Given the description of an element on the screen output the (x, y) to click on. 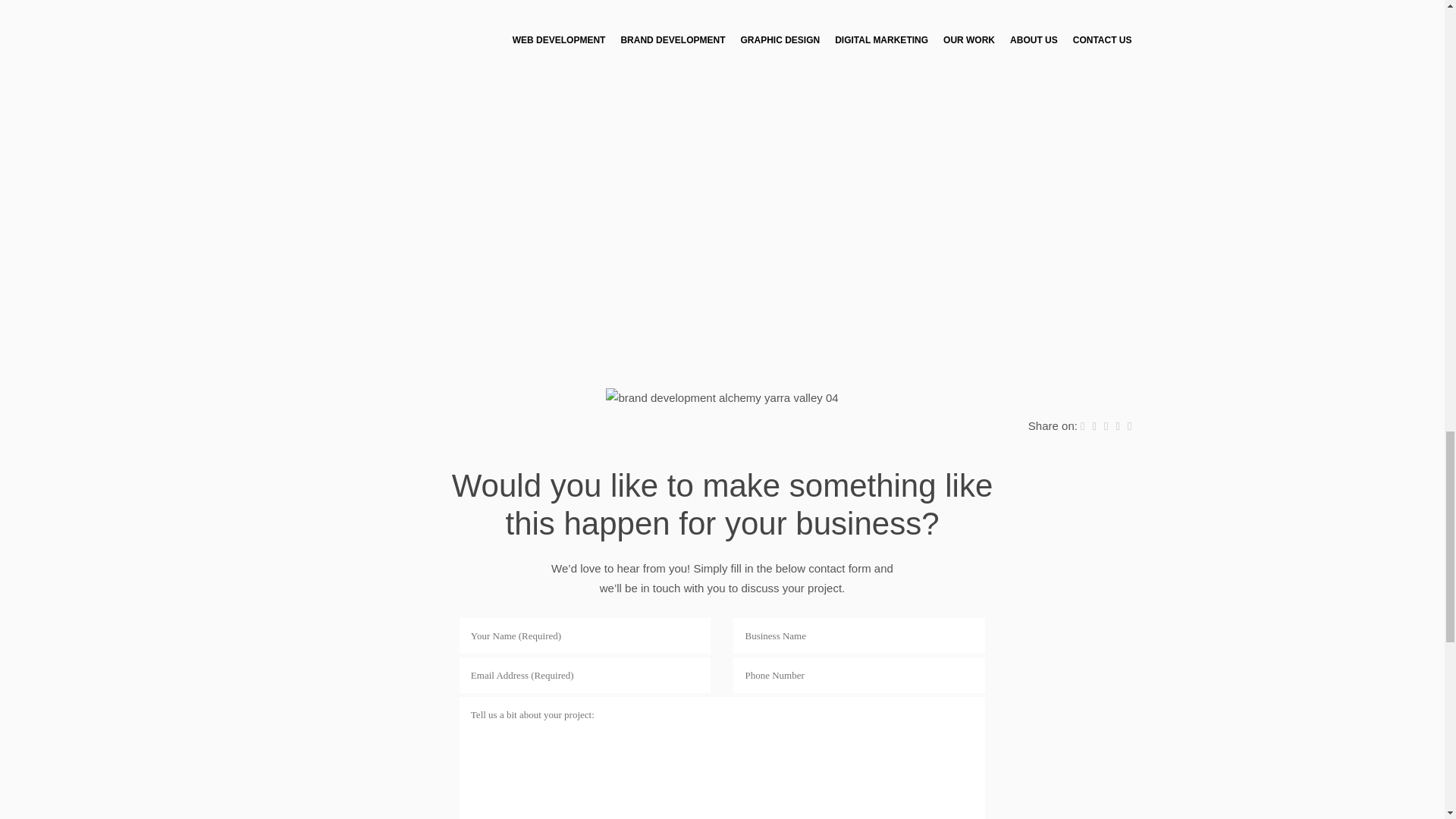
brand development alchemy yarra valley 04 (721, 397)
